Given the description of an element on the screen output the (x, y) to click on. 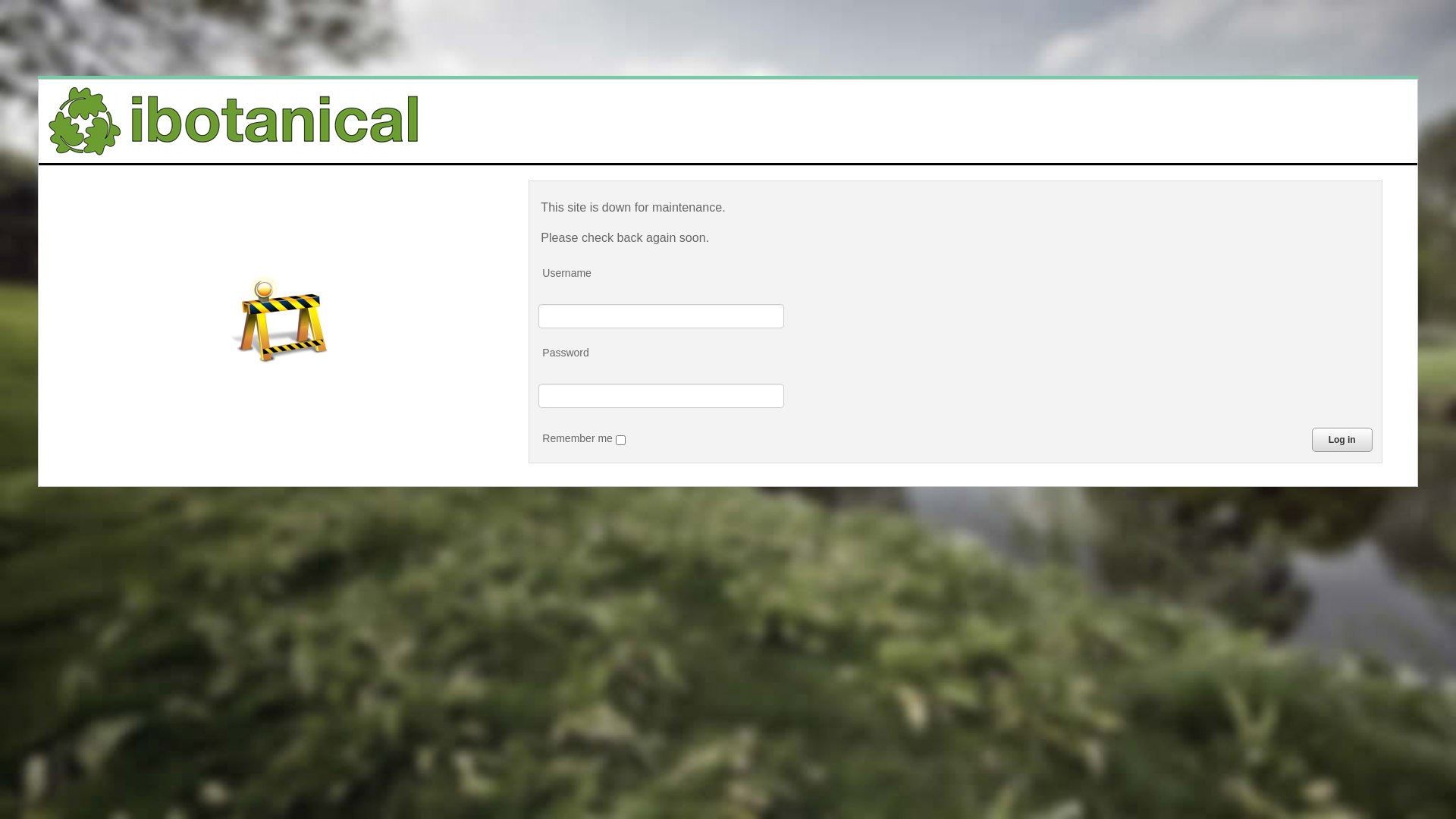
Ibotanical Element type: hover (233, 121)
Log in Element type: text (1341, 439)
